Given the description of an element on the screen output the (x, y) to click on. 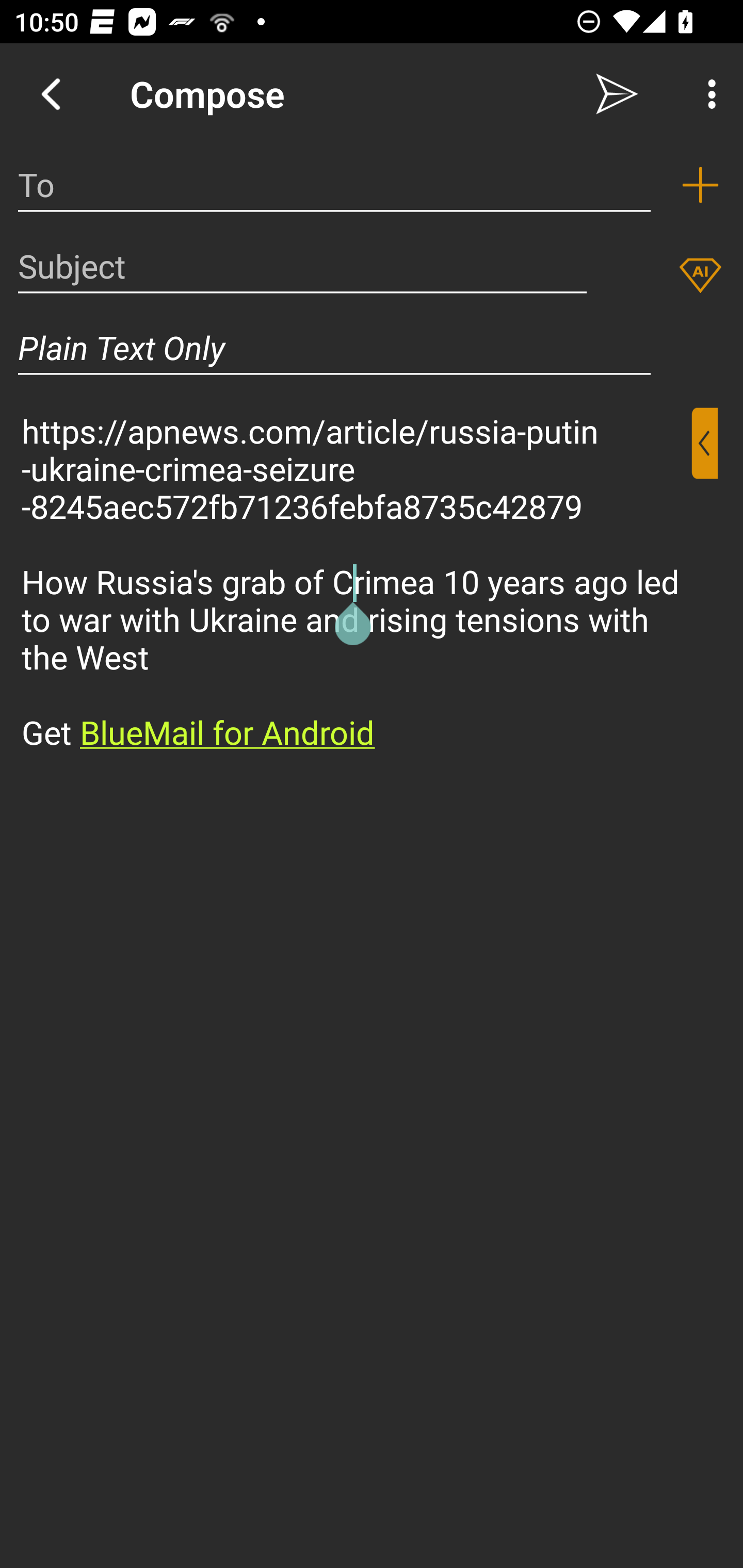
Navigate up (50, 93)
Send (616, 93)
More Options (706, 93)
To (334, 184)
Add recipient (To) (699, 184)
Subject (302, 266)
Plain Text Only (334, 347)
